Given the description of an element on the screen output the (x, y) to click on. 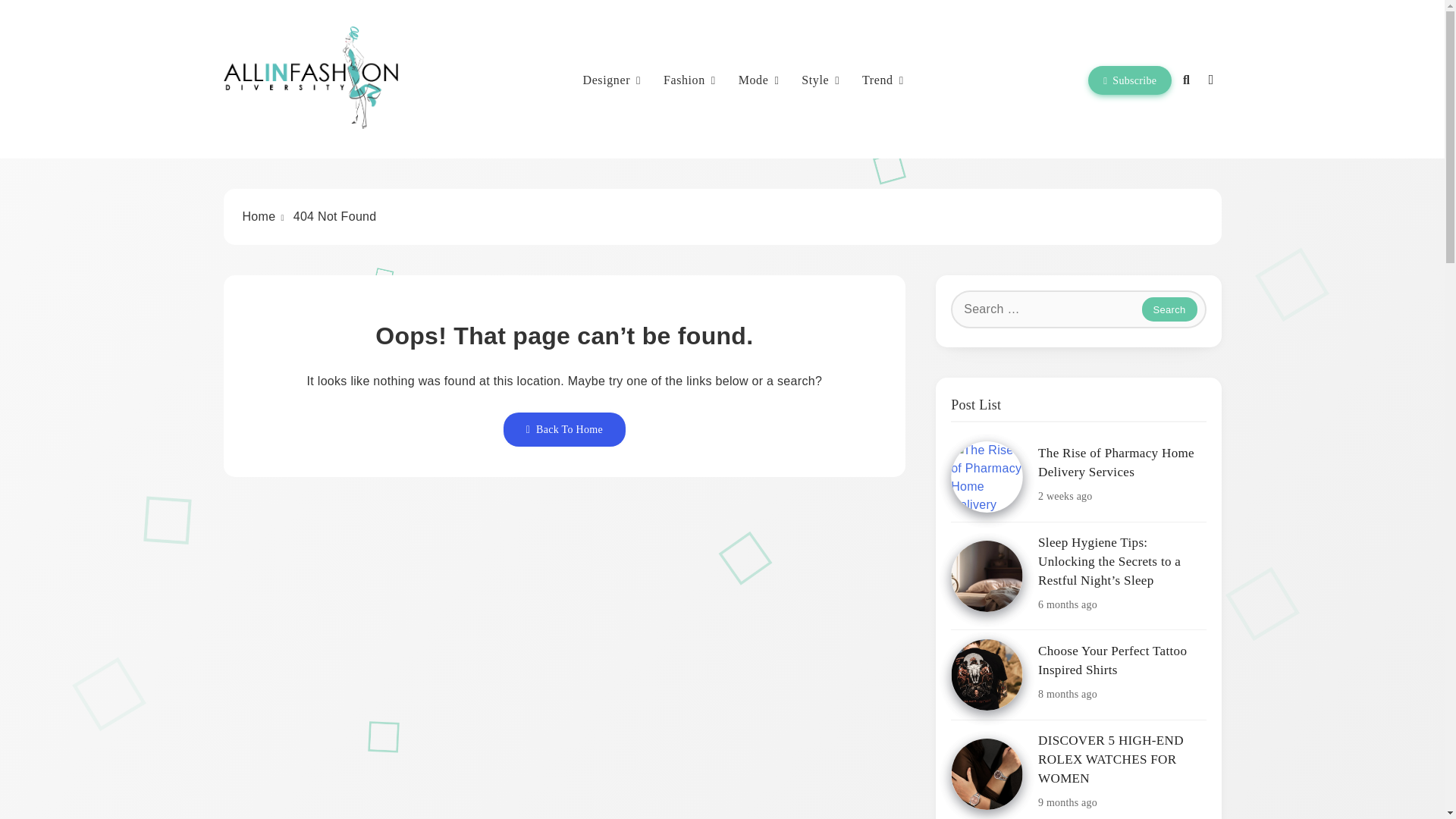
Fashion (689, 80)
Subscribe (1129, 80)
Home (259, 215)
The Rise of Pharmacy Home Delivery Services (986, 476)
ALL IN FASHION (342, 151)
Back To Home (564, 429)
Search (1168, 309)
Trend (882, 80)
Style (821, 80)
DISCOVER 5 HIGH-END ROLEX WATCHES FOR WOMEN (986, 773)
